Given the description of an element on the screen output the (x, y) to click on. 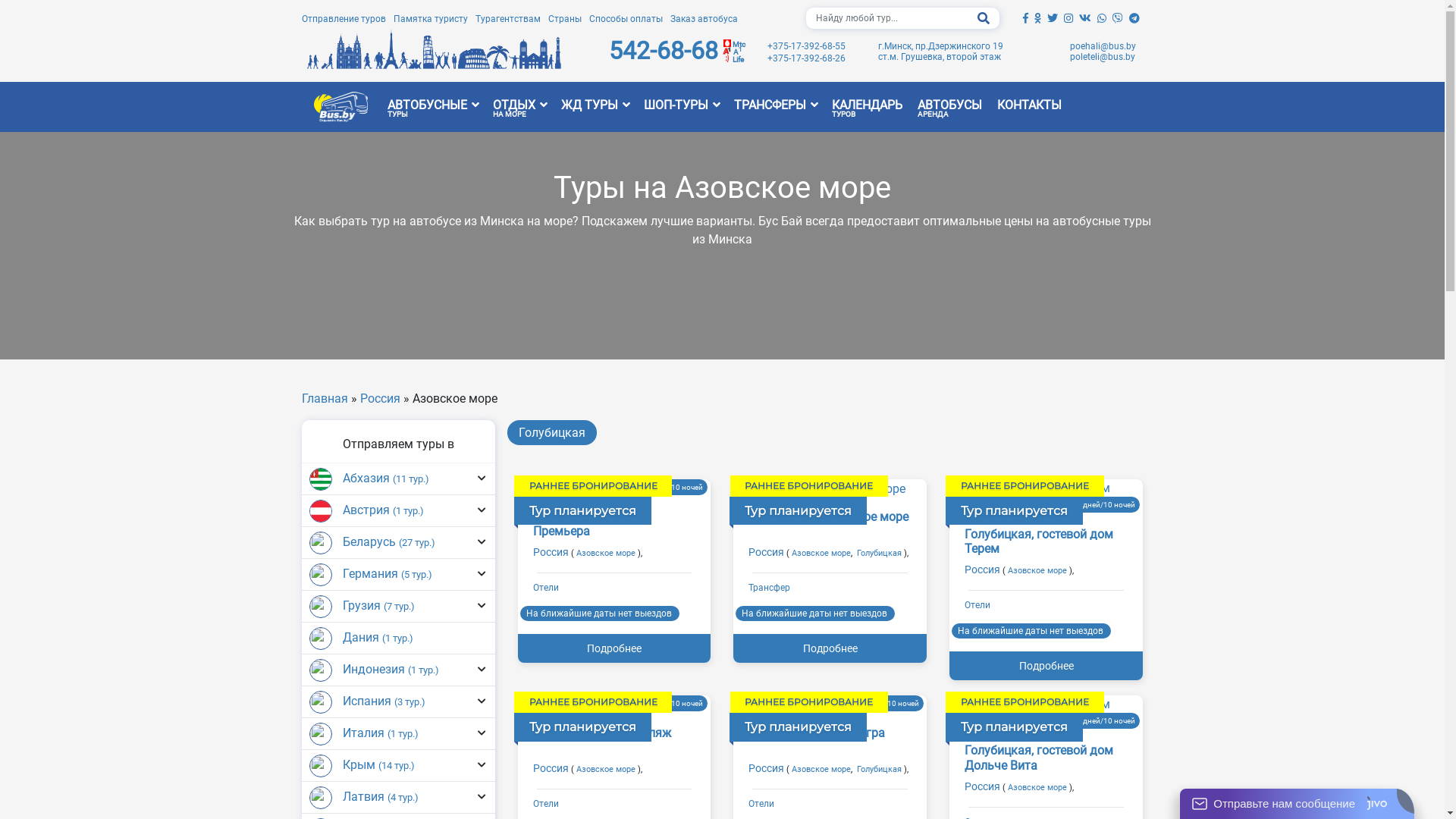
+375-17-392-68-26 Element type: text (806, 58)
poehali@bus.by Element type: text (1102, 45)
542-68-68 Element type: text (663, 50)
+375-17-392-68-55 Element type: text (806, 45)
poleteli@bus.by Element type: text (1102, 56)
